Given the description of an element on the screen output the (x, y) to click on. 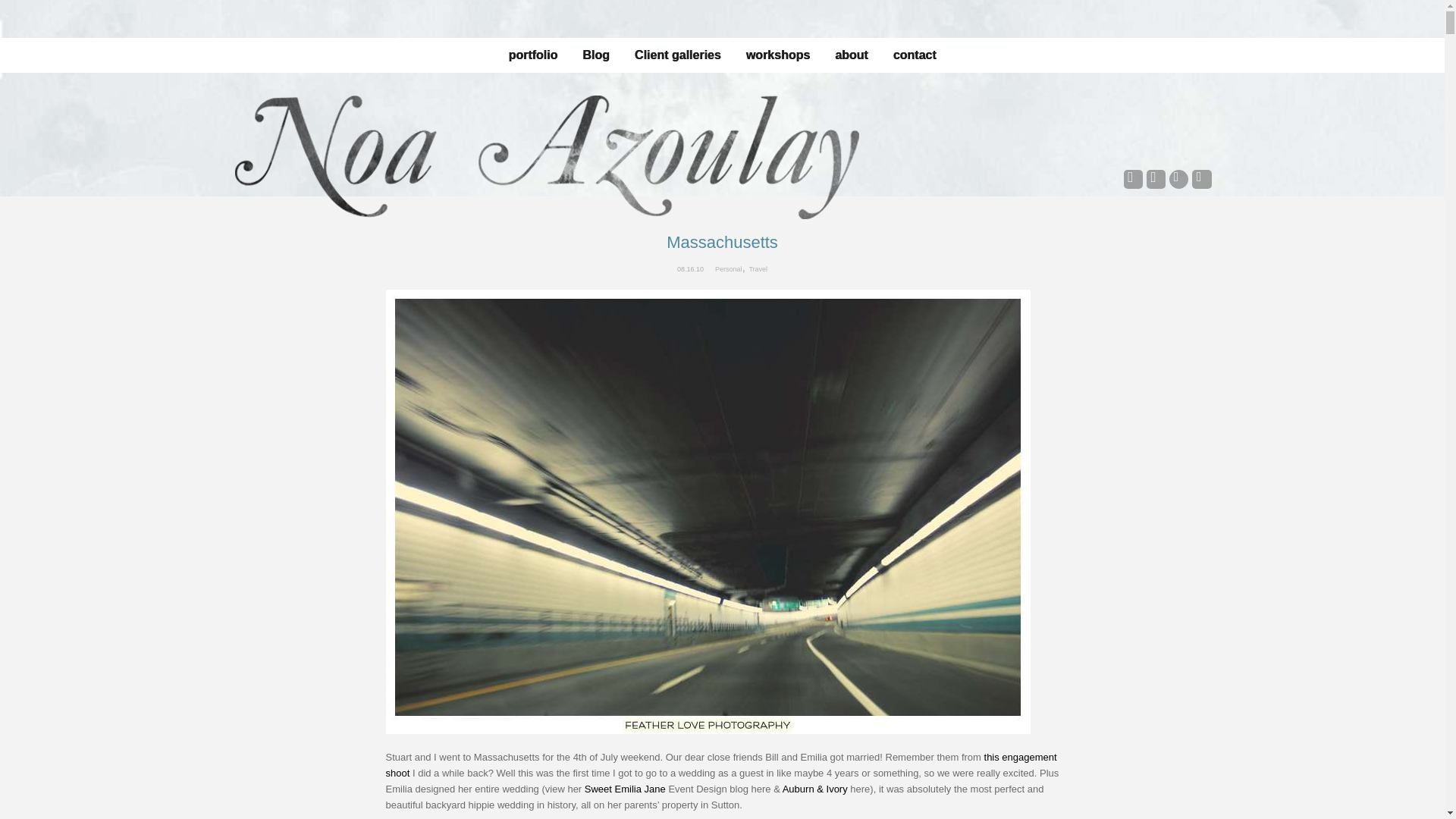
about (850, 54)
workshops (777, 54)
Travel (757, 269)
portfolio (532, 54)
Personal (728, 269)
Client galleries (677, 54)
Sweet Emilia Jane (625, 788)
this engagement shoot (721, 764)
Blog (596, 54)
contact (914, 54)
